Given the description of an element on the screen output the (x, y) to click on. 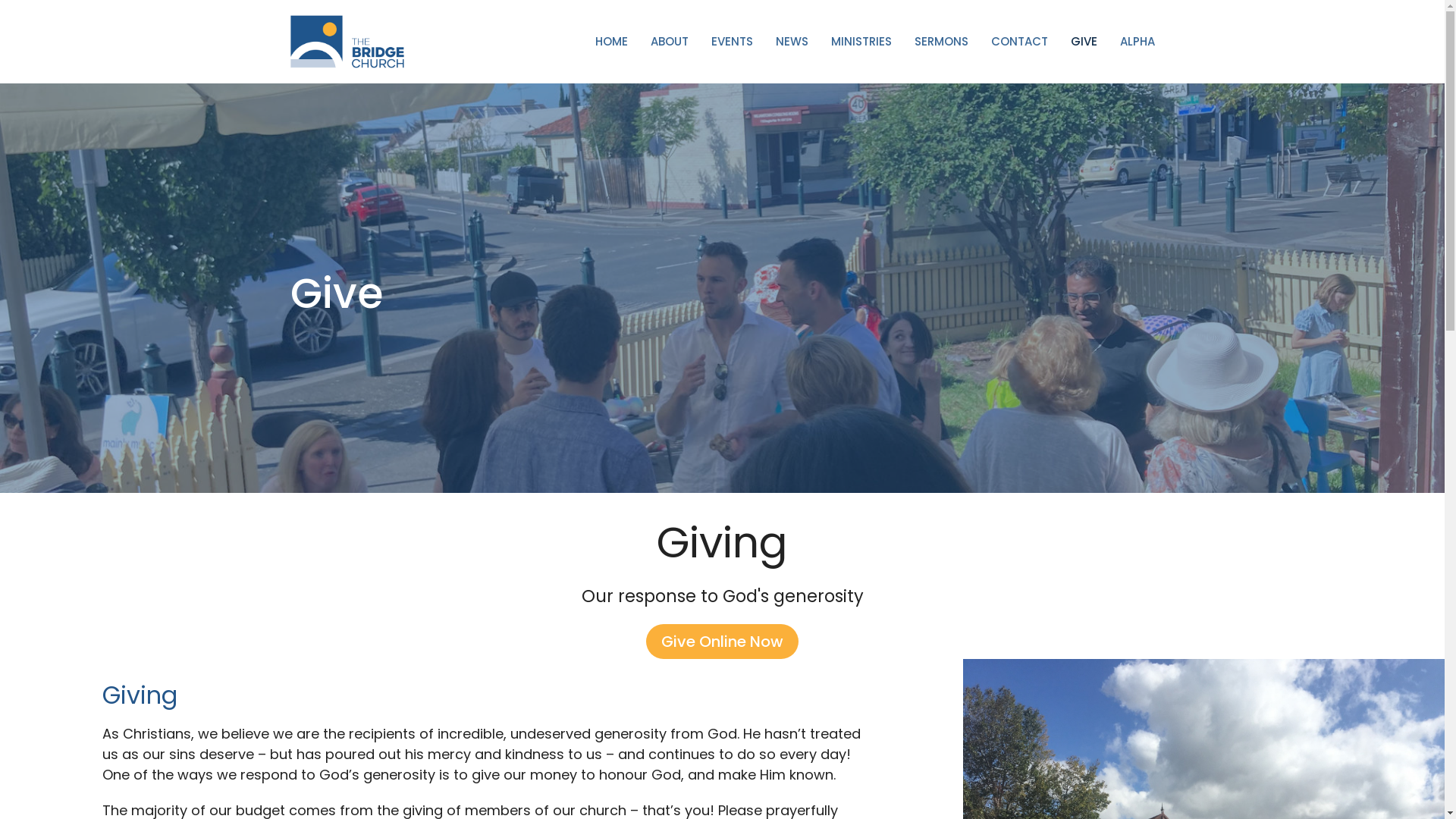
Give Online Now Element type: text (722, 641)
MINISTRIES Element type: text (861, 40)
CONTACT Element type: text (1018, 40)
EVENTS Element type: text (732, 40)
ALPHA Element type: text (1136, 40)
GIVE Element type: text (1083, 40)
ABOUT Element type: text (669, 40)
NEWS Element type: text (791, 40)
SERMONS Element type: text (941, 40)
HOME Element type: text (610, 40)
